Given the description of an element on the screen output the (x, y) to click on. 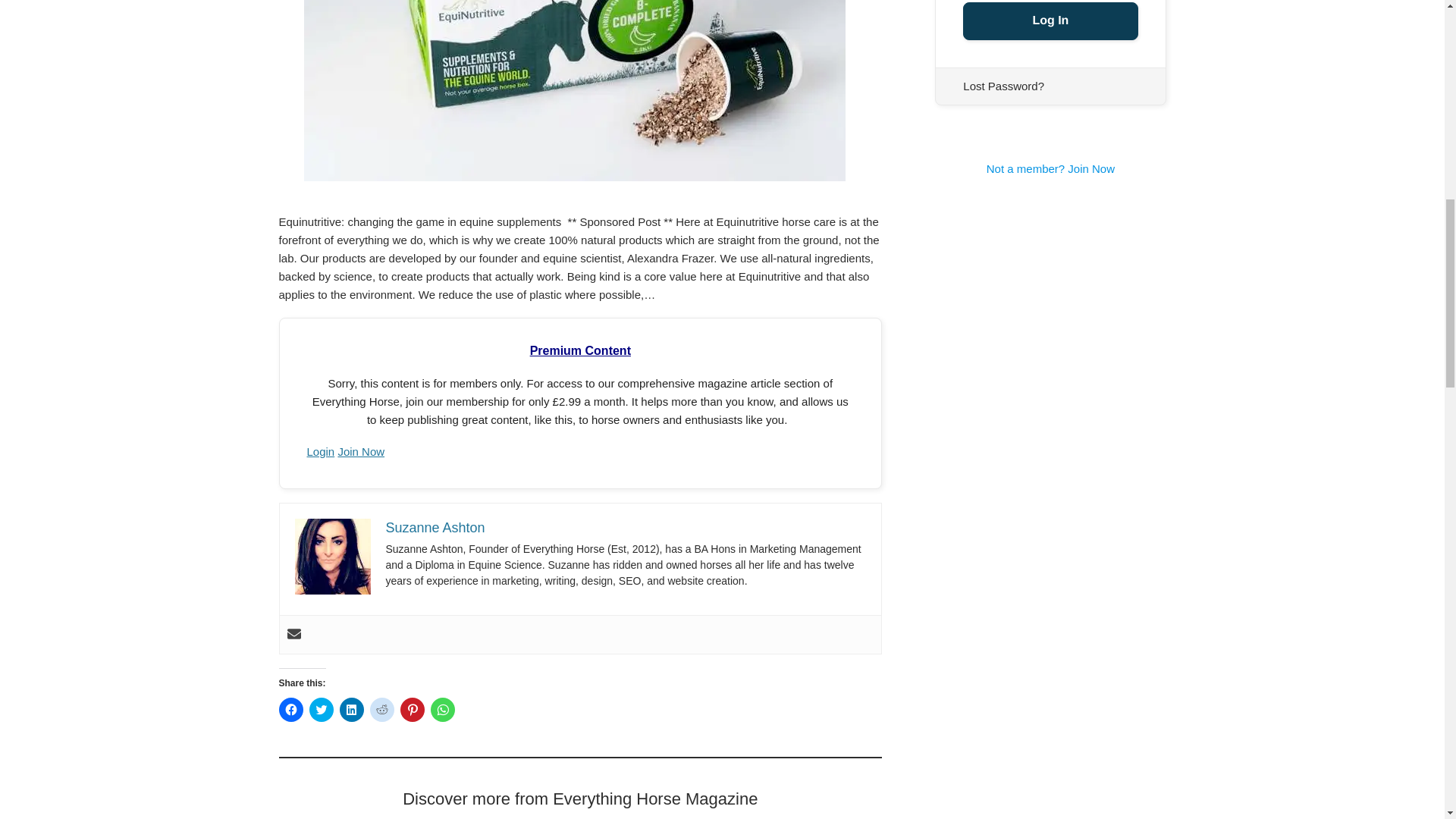
Click to share on WhatsApp (442, 709)
Click to share on Pinterest (412, 709)
Click to share on LinkedIn (351, 709)
Click to share on Reddit (381, 709)
Log In (1049, 21)
Click to share on Facebook (290, 709)
Click to share on Twitter (320, 709)
User email (292, 634)
